Given the description of an element on the screen output the (x, y) to click on. 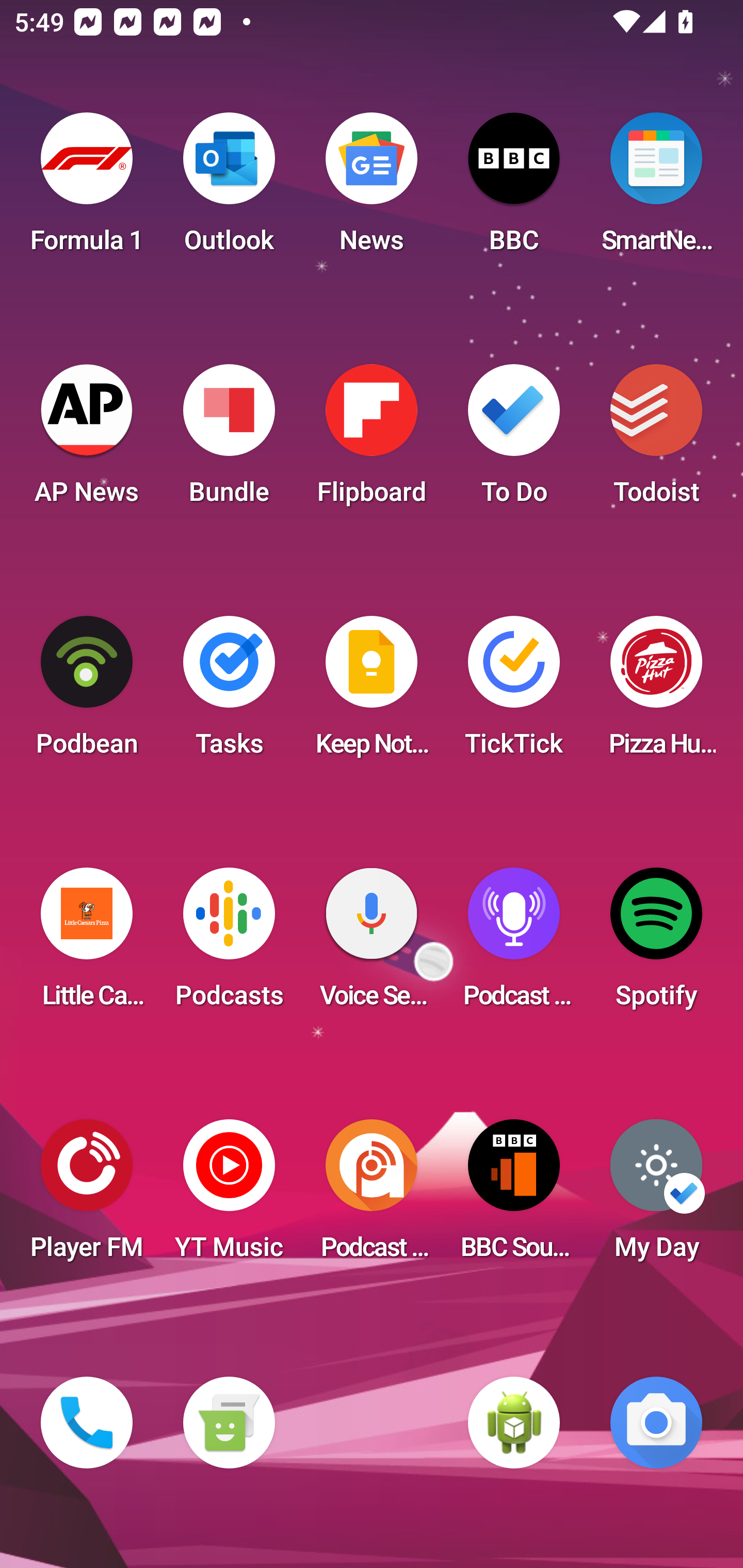
Formula 1 (86, 188)
Outlook (228, 188)
News (371, 188)
BBC (513, 188)
SmartNews (656, 188)
AP News (86, 440)
Bundle (228, 440)
Flipboard (371, 440)
To Do (513, 440)
Todoist (656, 440)
Podbean (86, 692)
Tasks (228, 692)
Keep Notes (371, 692)
TickTick (513, 692)
Pizza Hut HK & Macau (656, 692)
Little Caesars Pizza (86, 943)
Podcasts (228, 943)
Voice Search (371, 943)
Podcast Player (513, 943)
Spotify (656, 943)
Player FM (86, 1195)
YT Music (228, 1195)
Podcast Addict (371, 1195)
BBC Sounds (513, 1195)
My Day (656, 1195)
Phone (86, 1422)
Messaging (228, 1422)
WebView Browser Tester (513, 1422)
Camera (656, 1422)
